Given the description of an element on the screen output the (x, y) to click on. 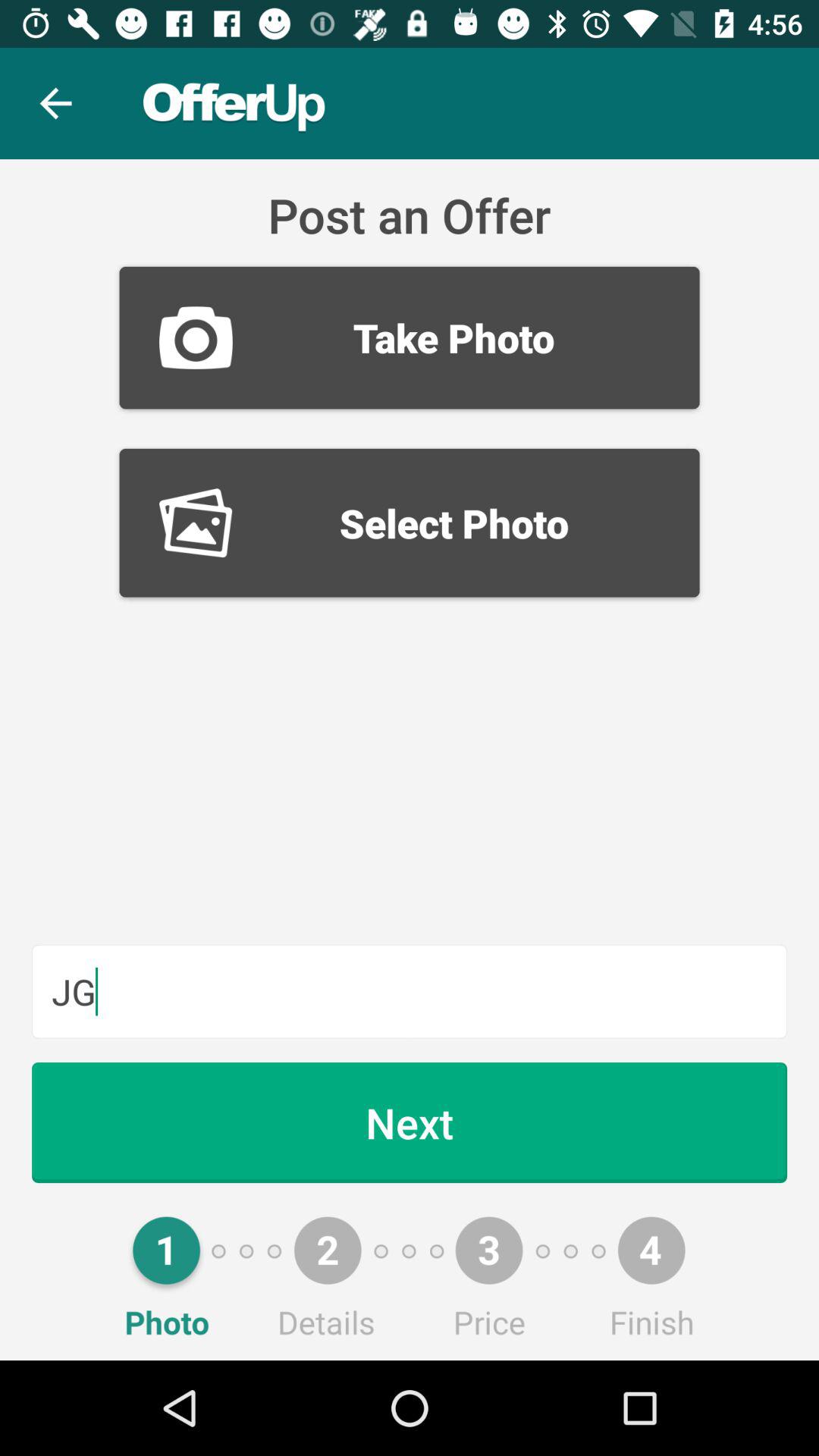
click select photo (409, 522)
